Given the description of an element on the screen output the (x, y) to click on. 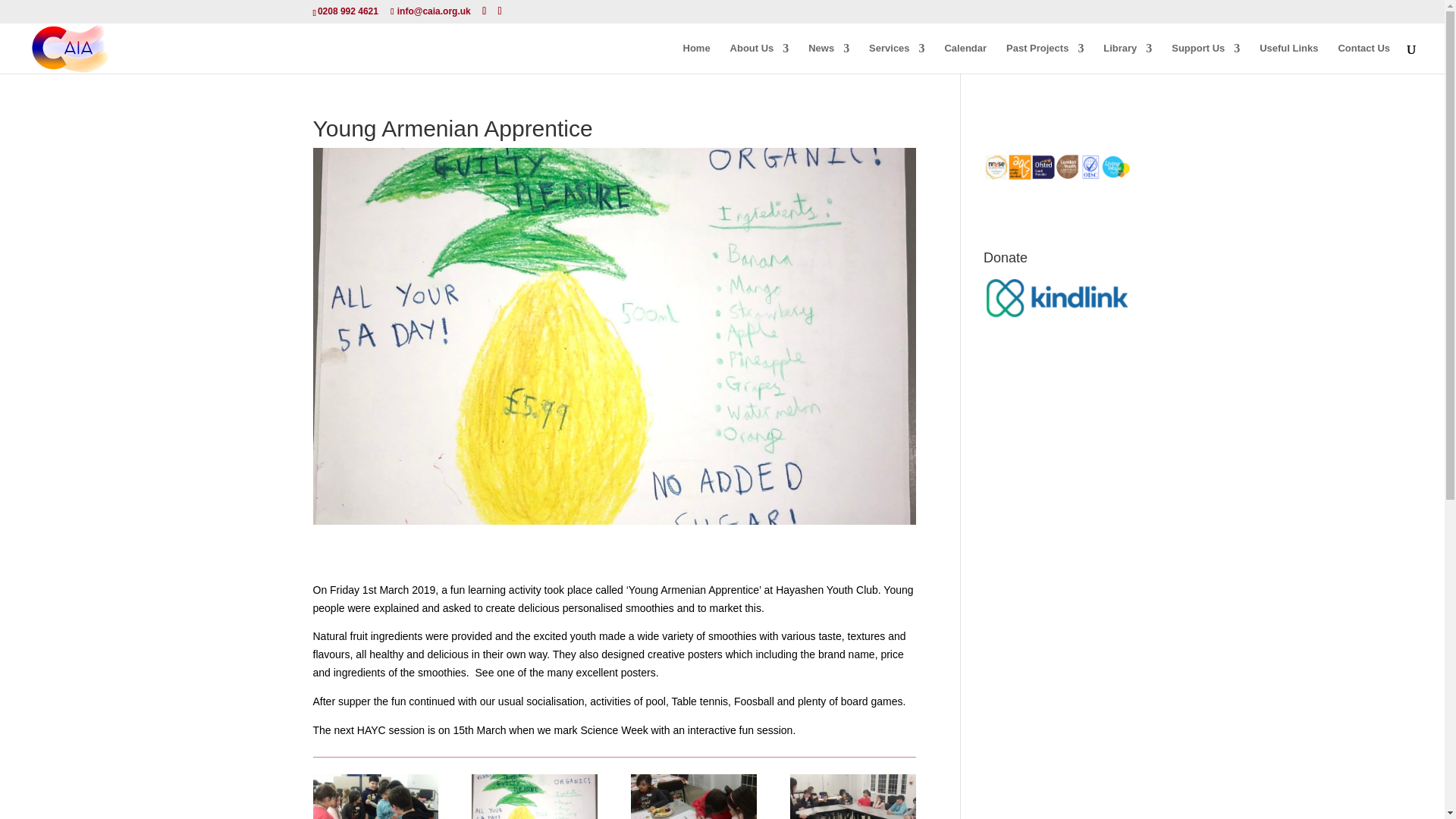
About Us (759, 58)
News (828, 58)
Past Projects (1044, 58)
Calendar (965, 58)
Services (896, 58)
Home (696, 58)
